Given the description of an element on the screen output the (x, y) to click on. 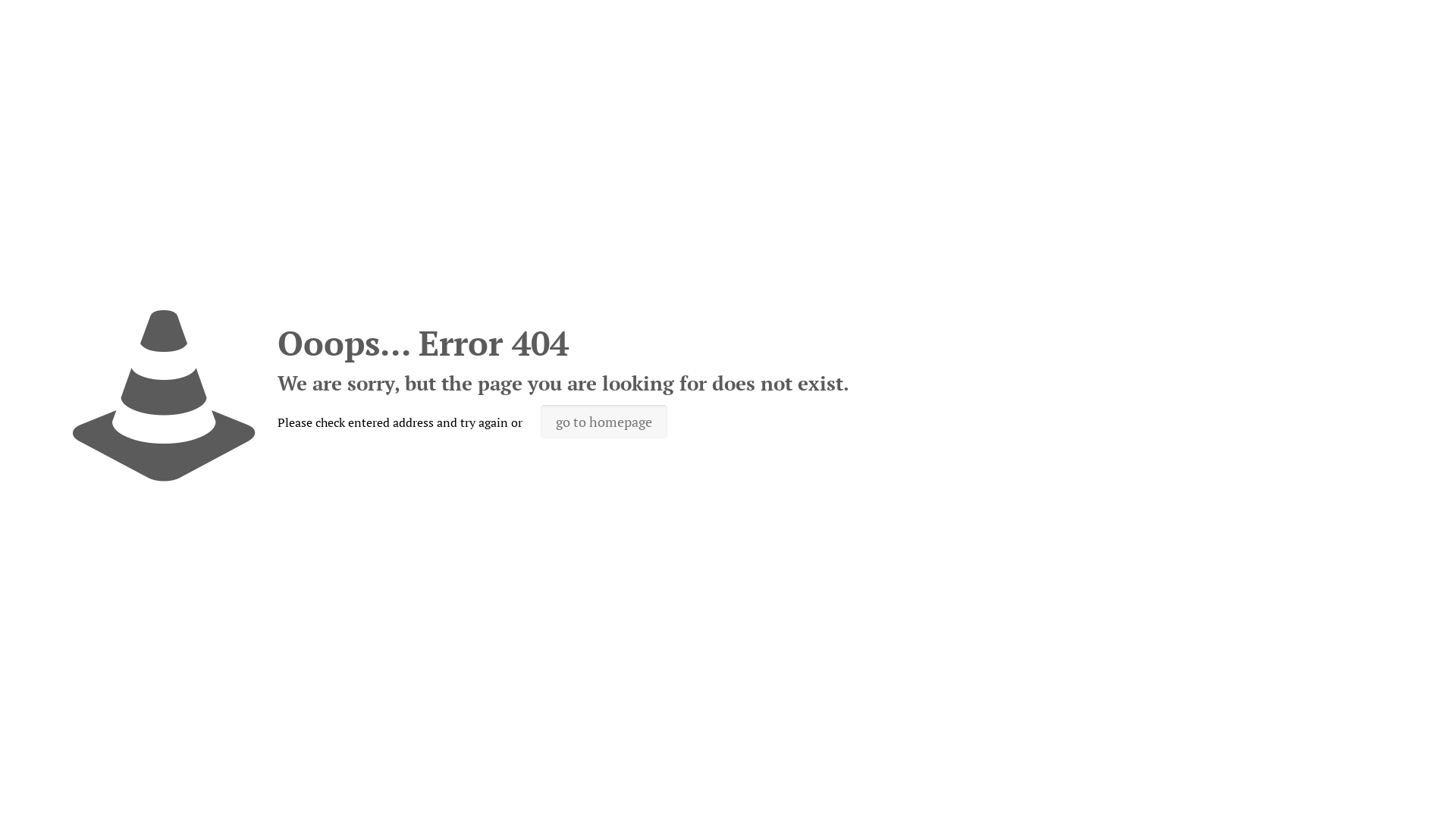
go to homepage Element type: text (603, 421)
